Given the description of an element on the screen output the (x, y) to click on. 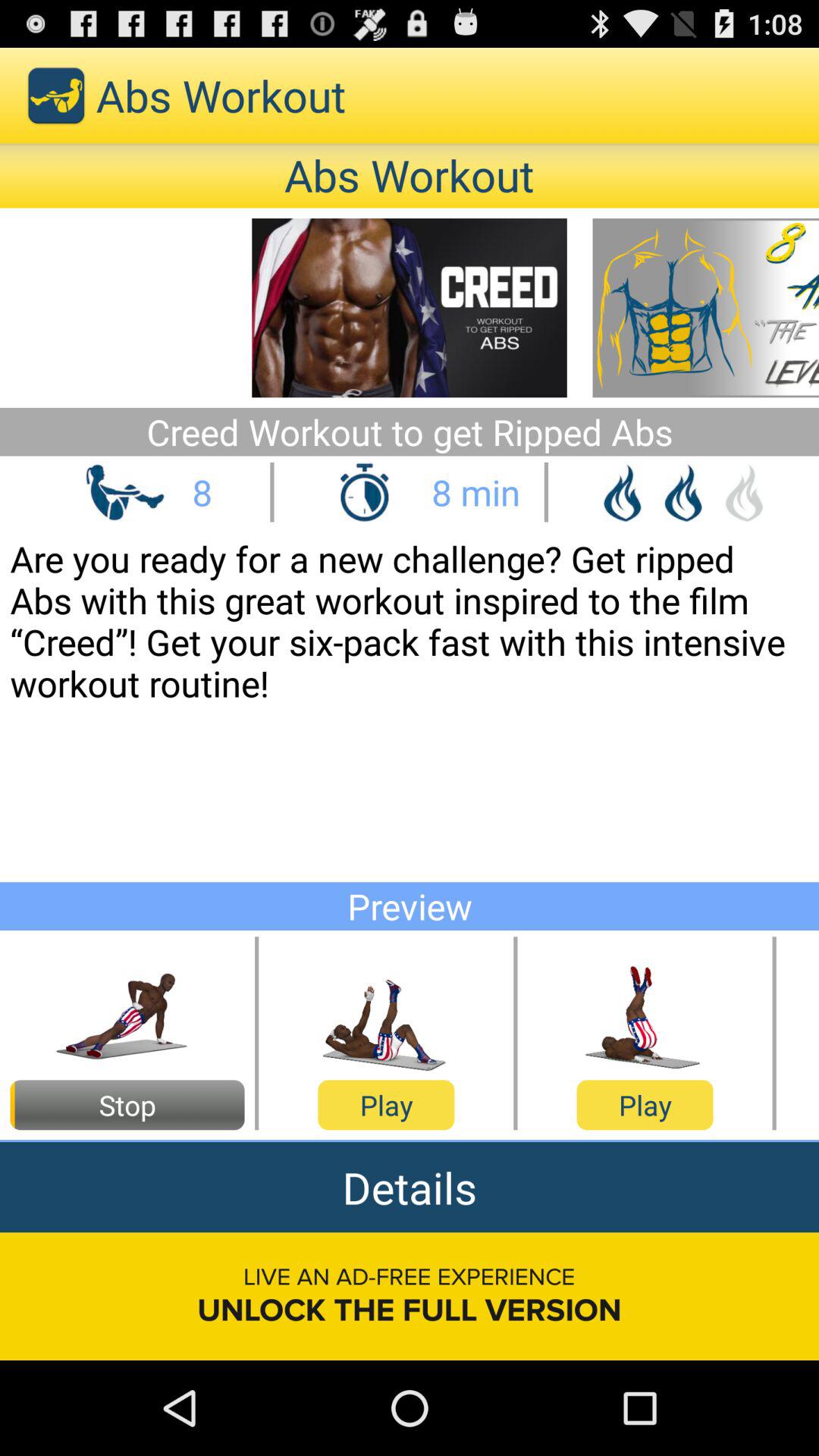
click the icon above the live an ad (409, 1187)
